Given the description of an element on the screen output the (x, y) to click on. 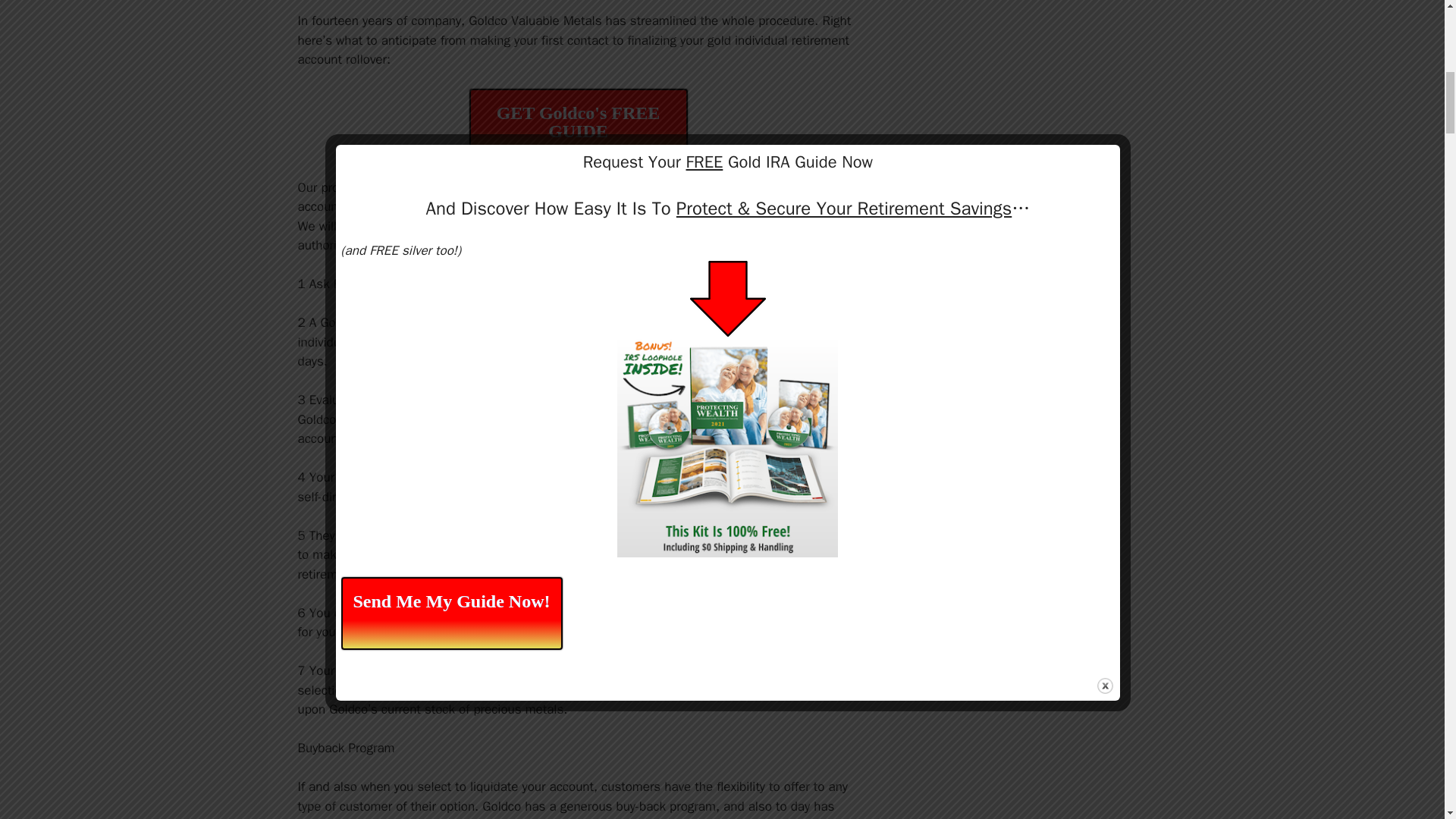
GET Goldco's FREE GUIDE (577, 123)
